Given the description of an element on the screen output the (x, y) to click on. 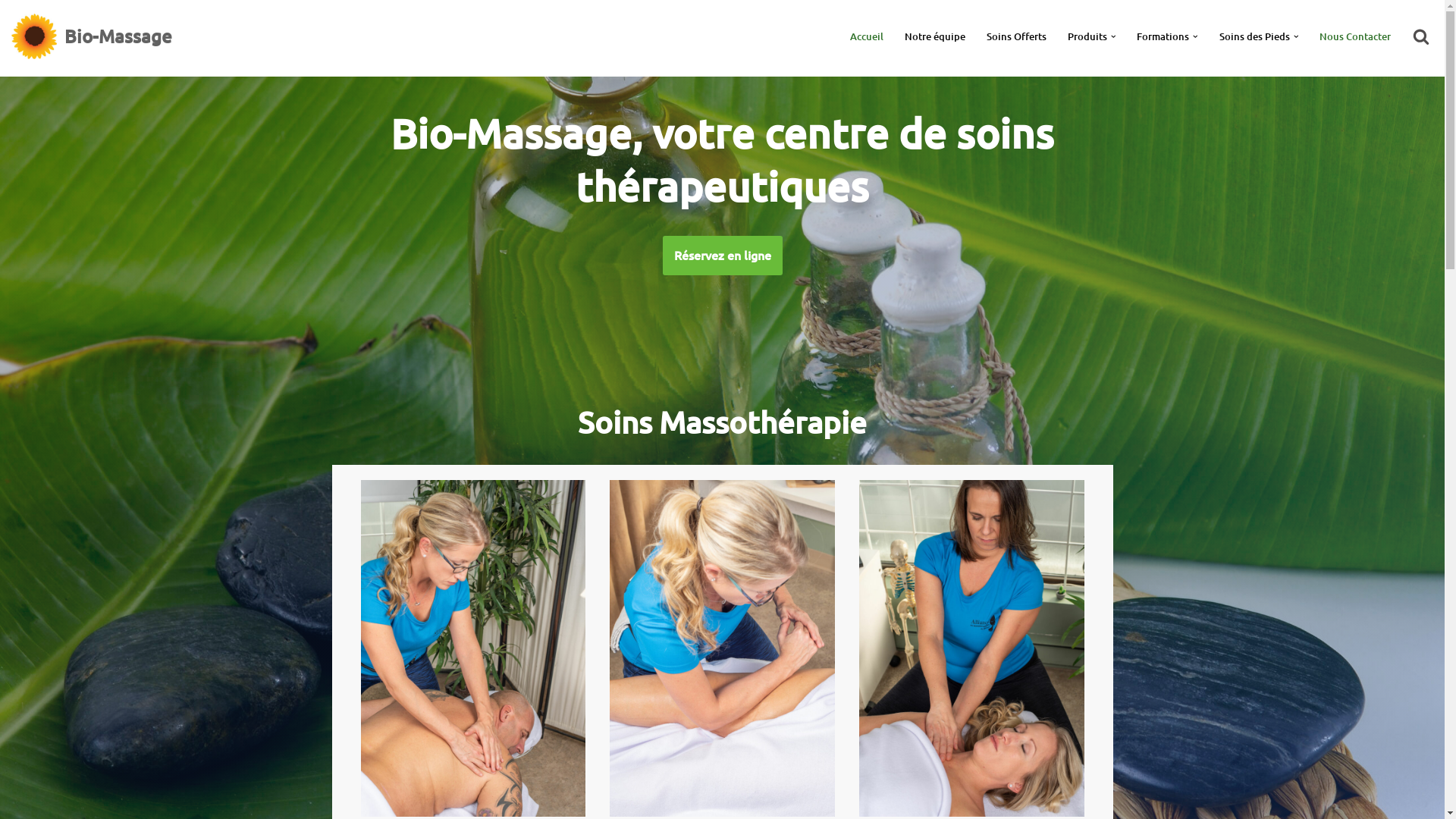
Accueil Element type: text (865, 36)
Produits Element type: text (1087, 36)
Soins des Pieds Element type: text (1254, 36)
Soins Offerts Element type: text (1015, 36)
Formations Element type: text (1162, 36)
Aller au contenu Element type: text (11, 31)
Nous Contacter Element type: text (1354, 36)
